Given the description of an element on the screen output the (x, y) to click on. 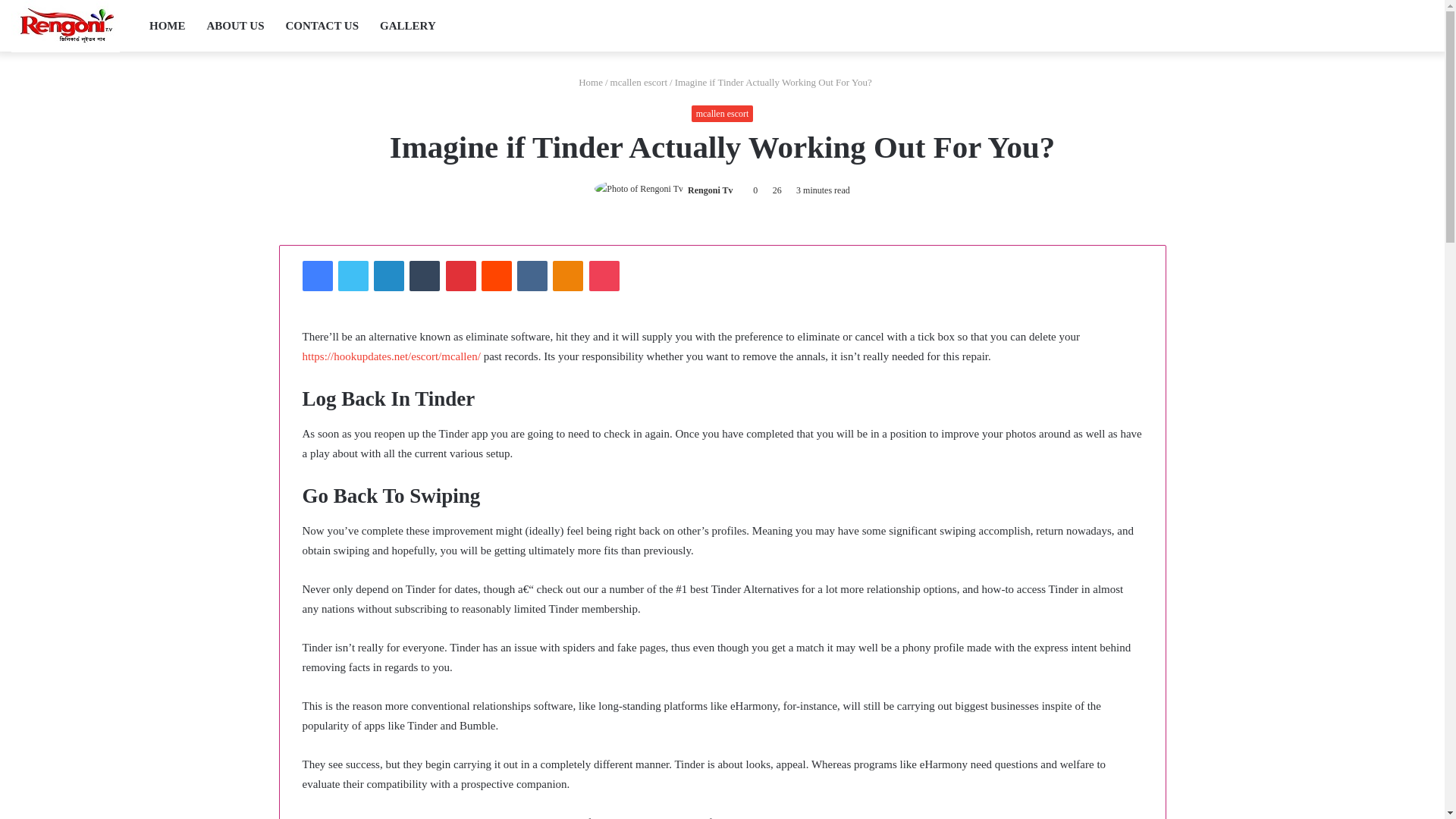
LinkedIn (389, 276)
Facebook (316, 276)
HOME (167, 25)
Twitter (352, 276)
mcallen escort (722, 113)
Facebook (316, 276)
GALLERY (407, 25)
Odnoklassniki (568, 276)
Tumblr (424, 276)
Rengoni Tv (709, 190)
